Given the description of an element on the screen output the (x, y) to click on. 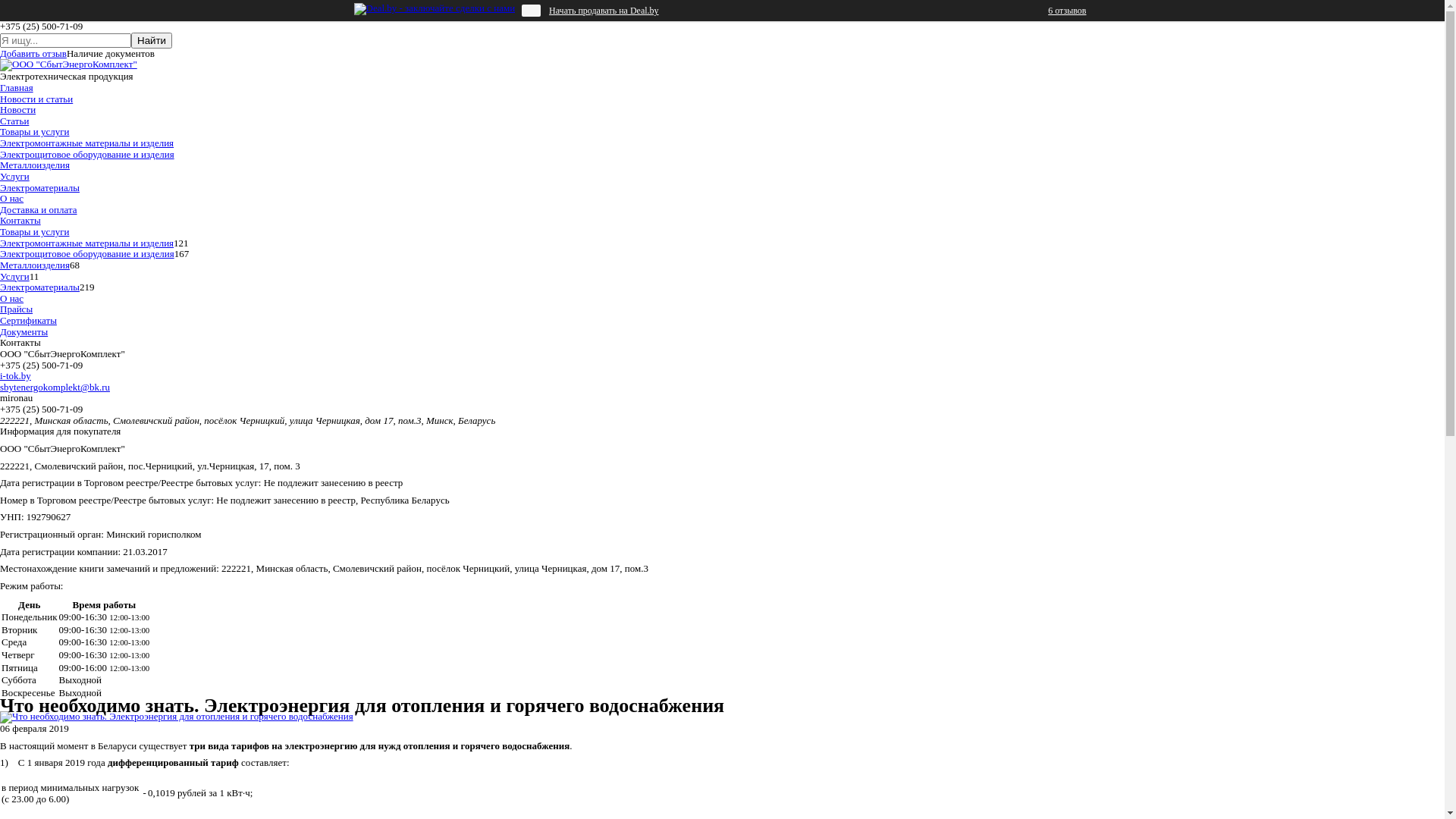
i-tok.by Element type: text (15, 375)
sbytenergokomplekt@bk.ru Element type: text (54, 386)
